Given the description of an element on the screen output the (x, y) to click on. 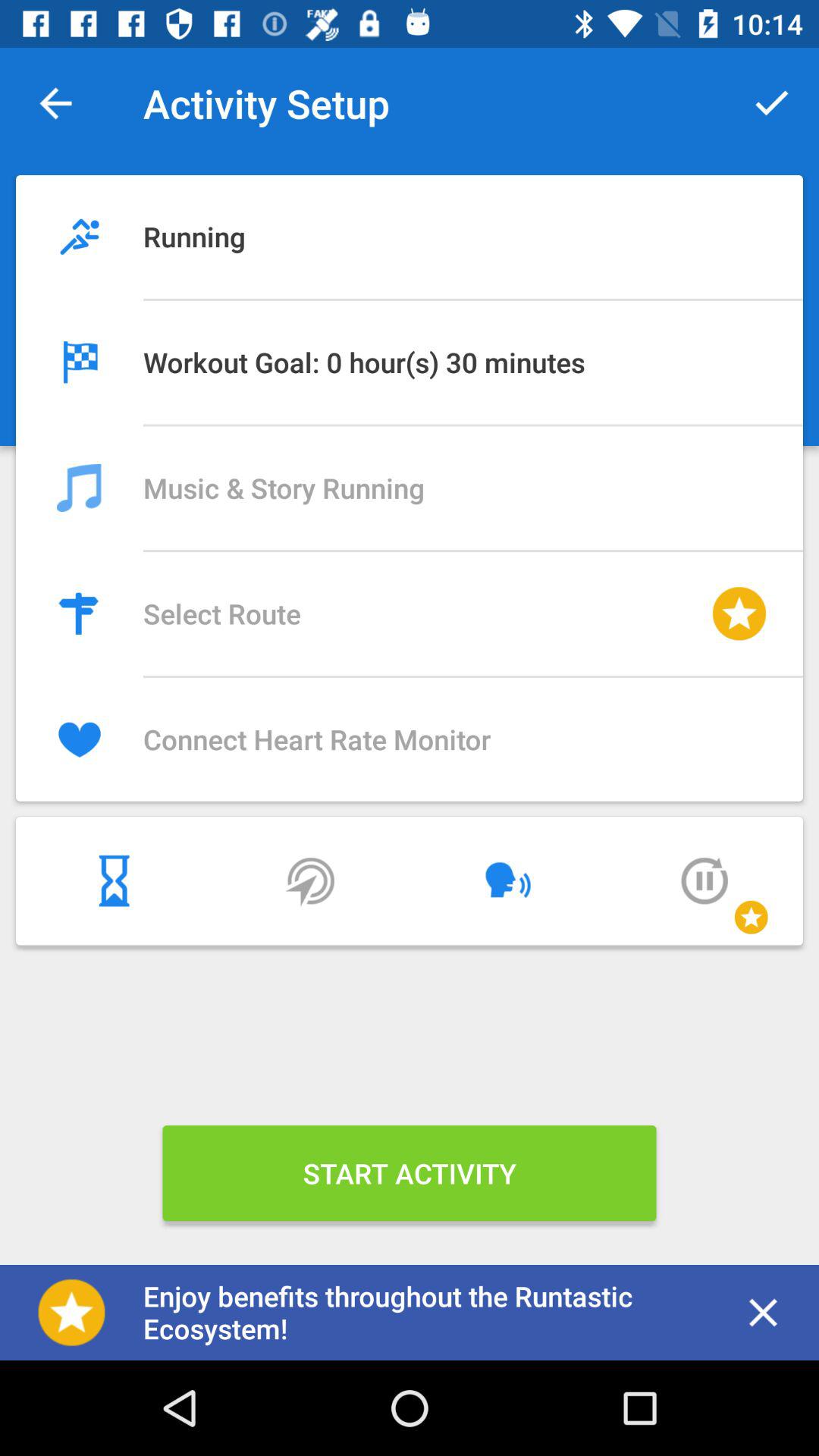
press icon to the right of the activity setup item (771, 103)
